Given the description of an element on the screen output the (x, y) to click on. 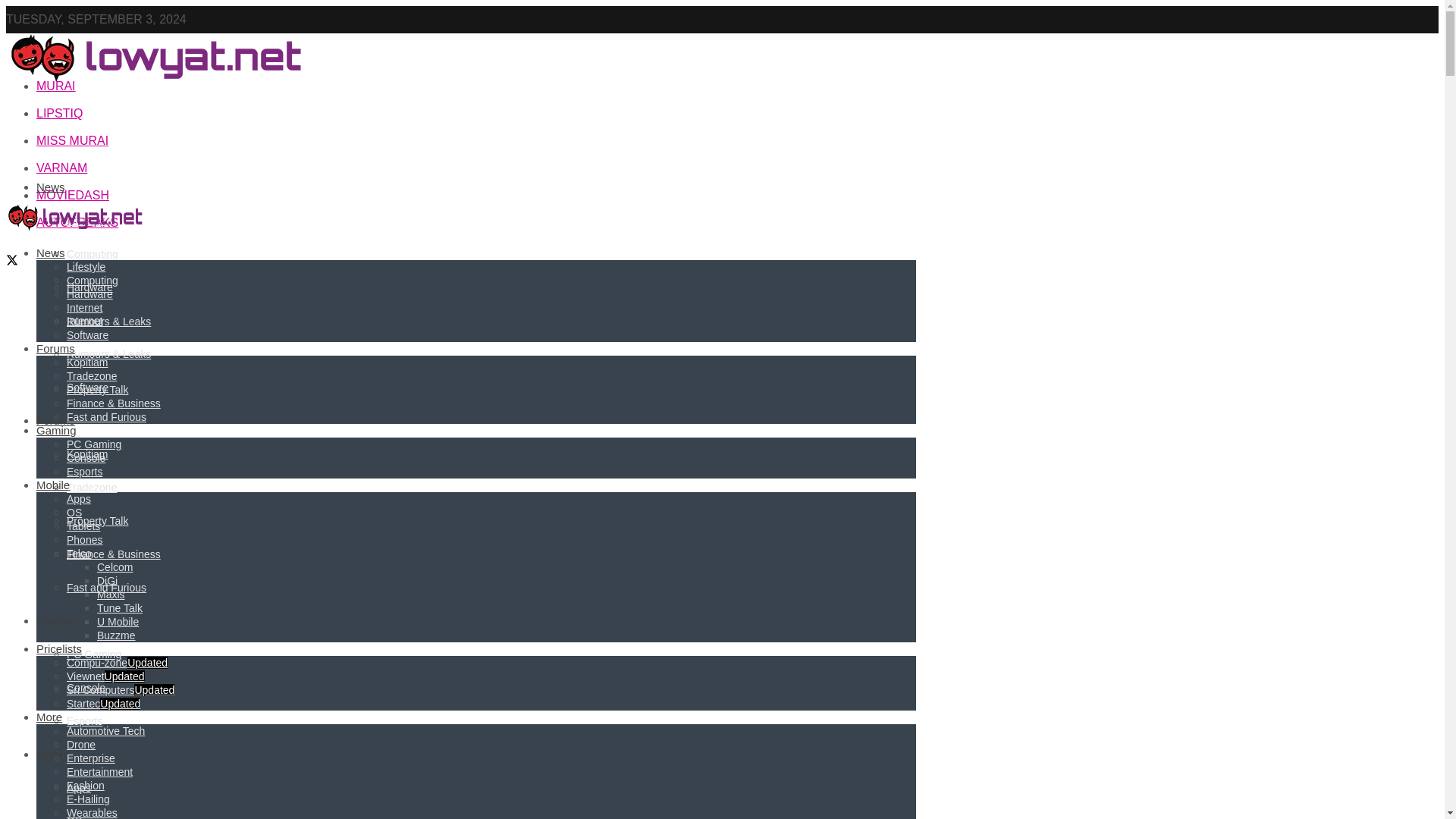
Tradezone (91, 487)
Software (86, 387)
Internet (83, 320)
MURAI (55, 85)
PC Gaming (93, 654)
MISS MURAI (71, 140)
News (50, 186)
Console (85, 687)
Esports (83, 720)
Property Talk (97, 521)
